Given the description of an element on the screen output the (x, y) to click on. 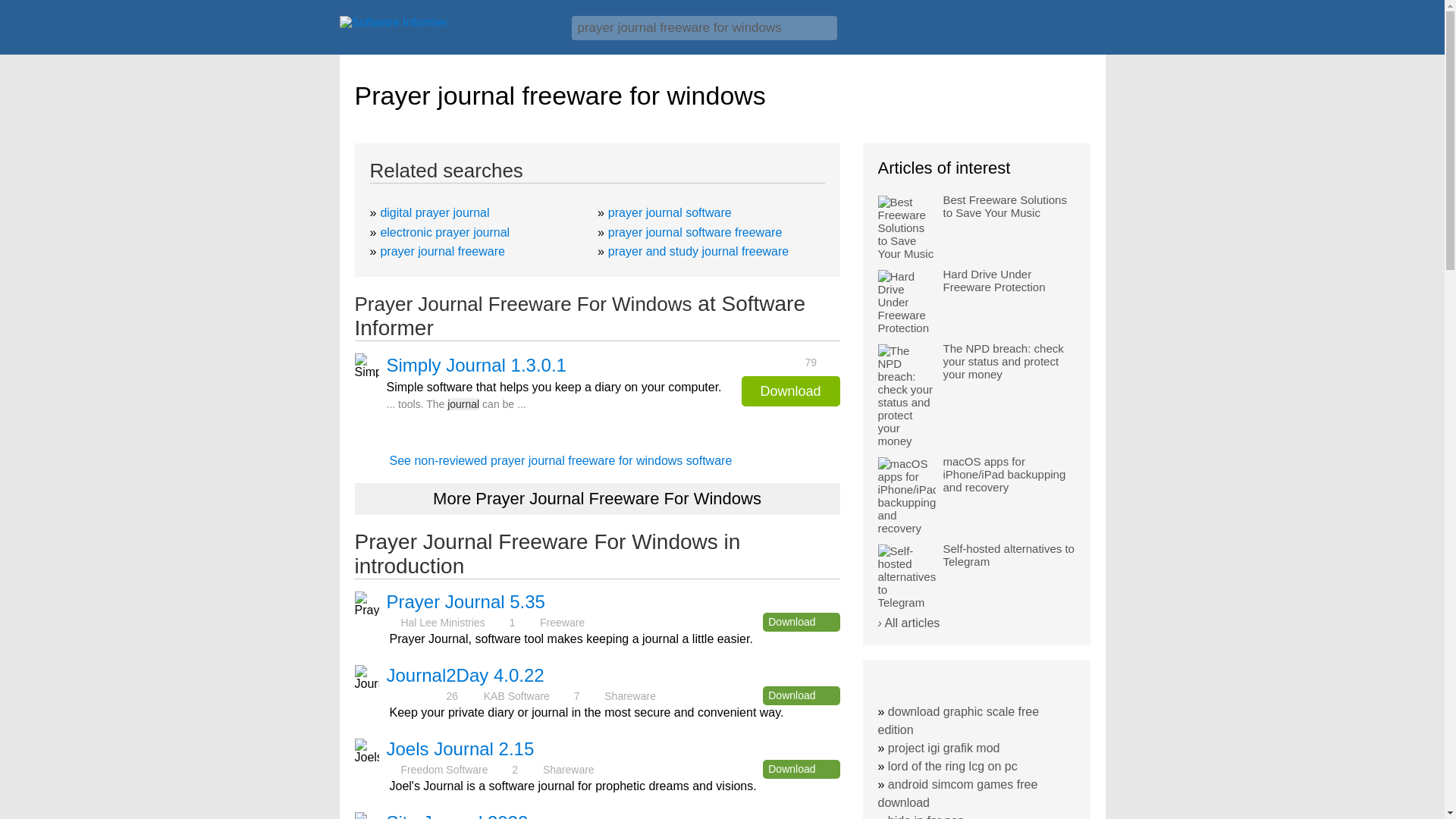
Download (801, 769)
Download (801, 695)
Simply Journal 1.3.0.1 (476, 364)
prayer journal freeware for windows (704, 27)
3.2 (415, 695)
prayer and study journal freeware (698, 250)
Prayer Journal 5.35 (465, 601)
Journal2Day 4.0.22 (465, 675)
